Given the description of an element on the screen output the (x, y) to click on. 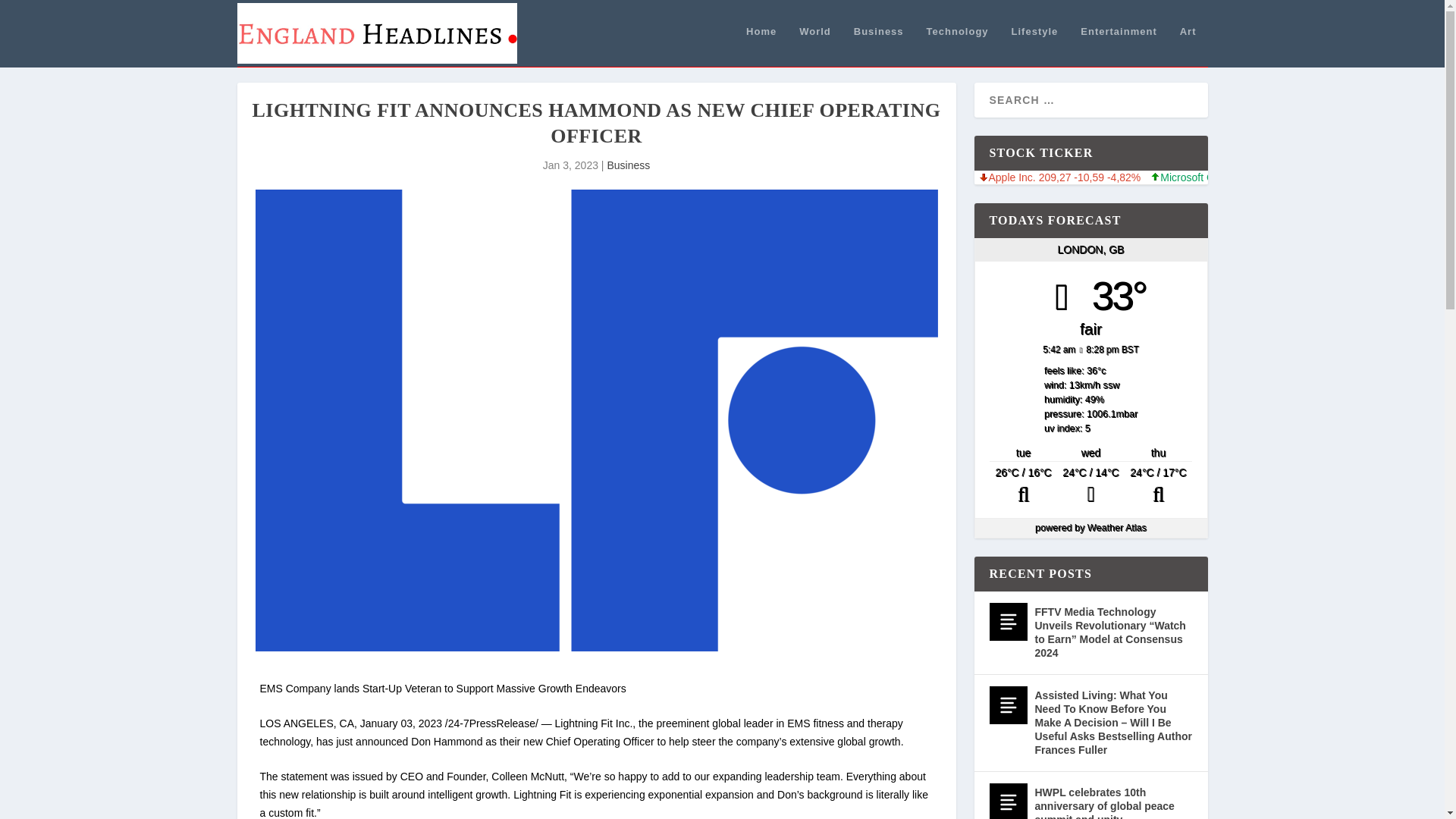
Entertainment (1118, 45)
Business (878, 45)
Technology (957, 45)
Lifestyle (1034, 45)
Business (628, 164)
